Given the description of an element on the screen output the (x, y) to click on. 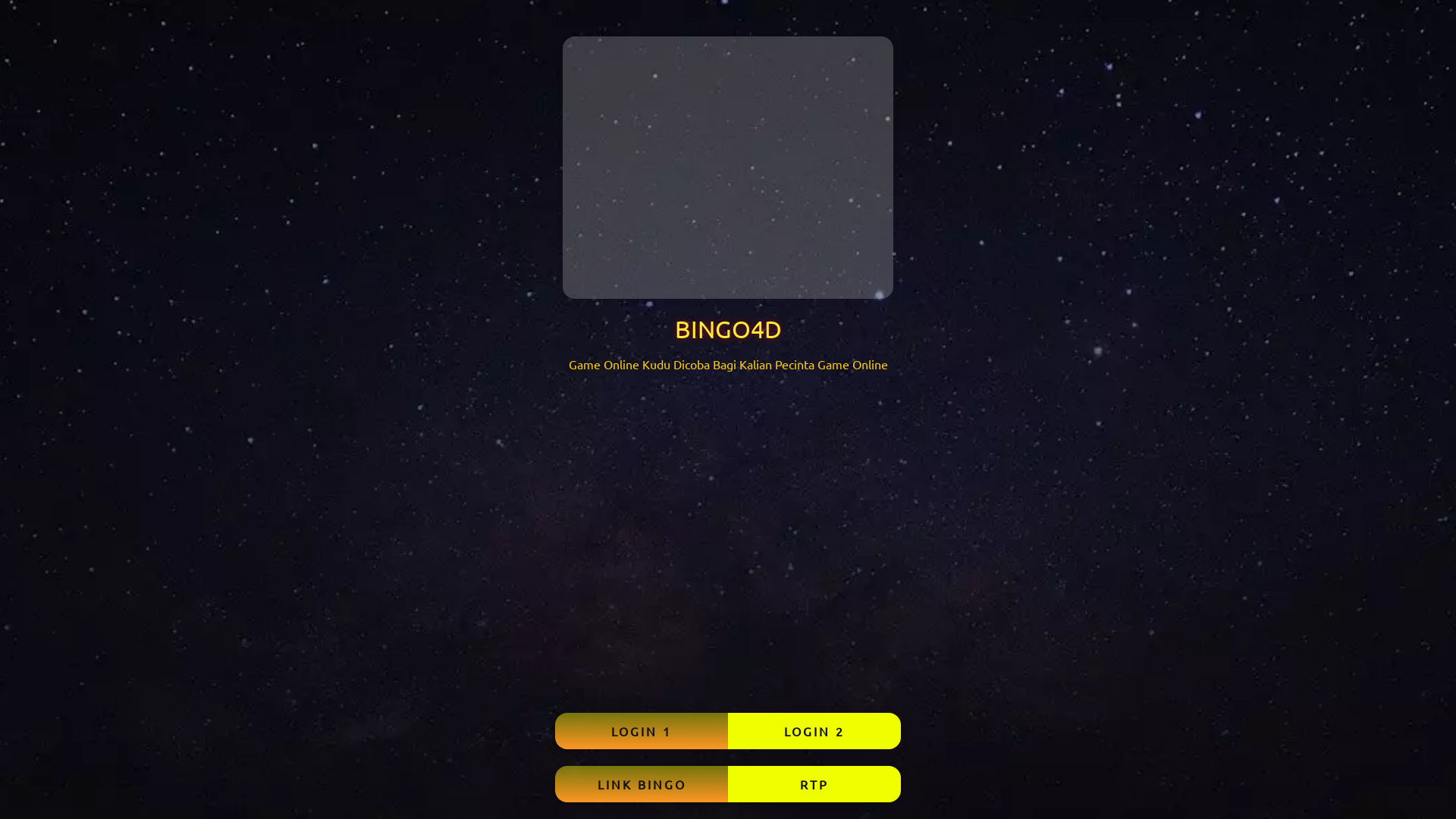
LOGIN 1 Element type: text (641, 730)
RTP Element type: text (814, 783)
LOGIN 2 Element type: text (814, 730)
LINK BINGO Element type: text (641, 783)
